Given the description of an element on the screen output the (x, y) to click on. 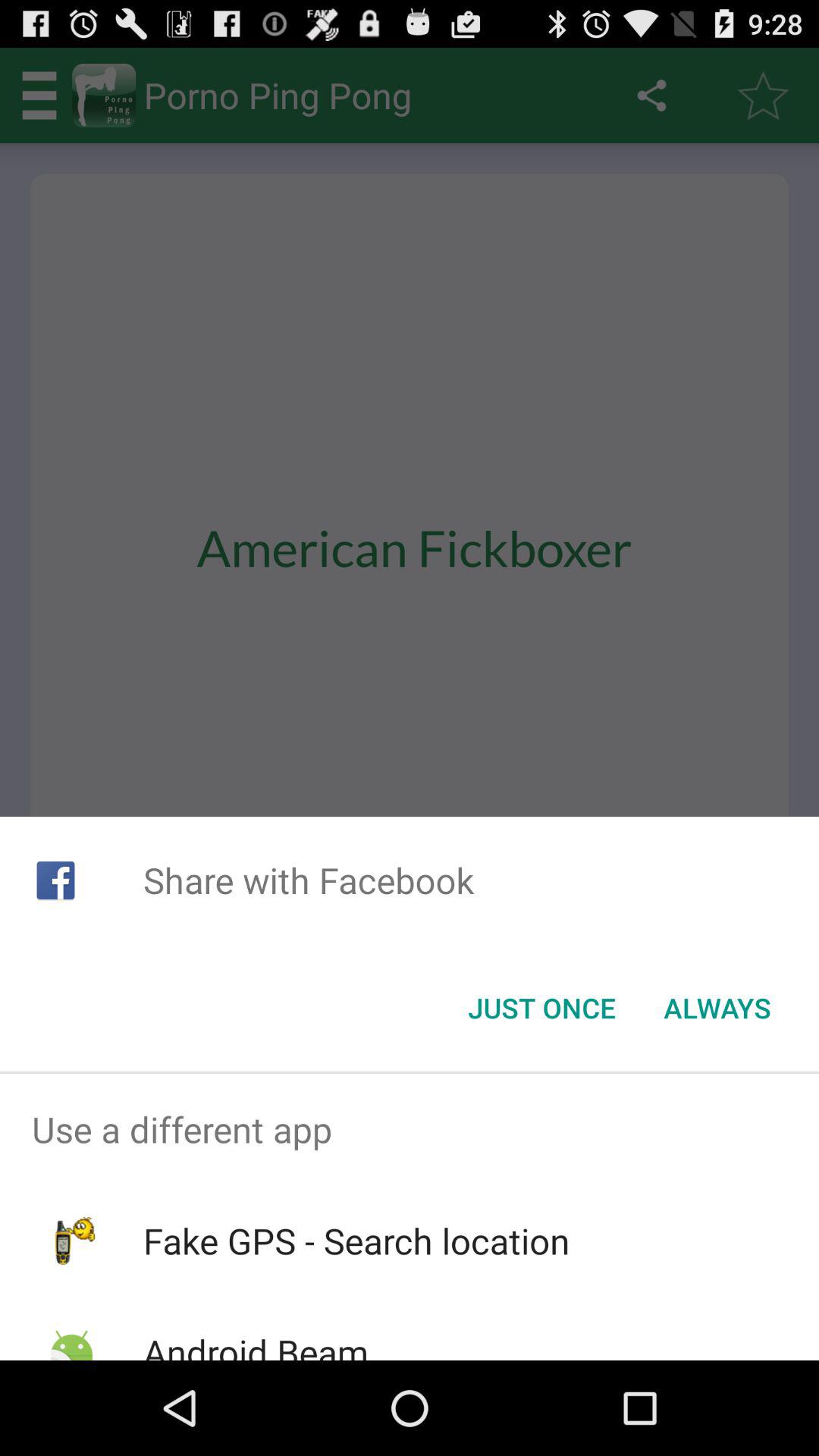
choose item below use a different (356, 1240)
